Given the description of an element on the screen output the (x, y) to click on. 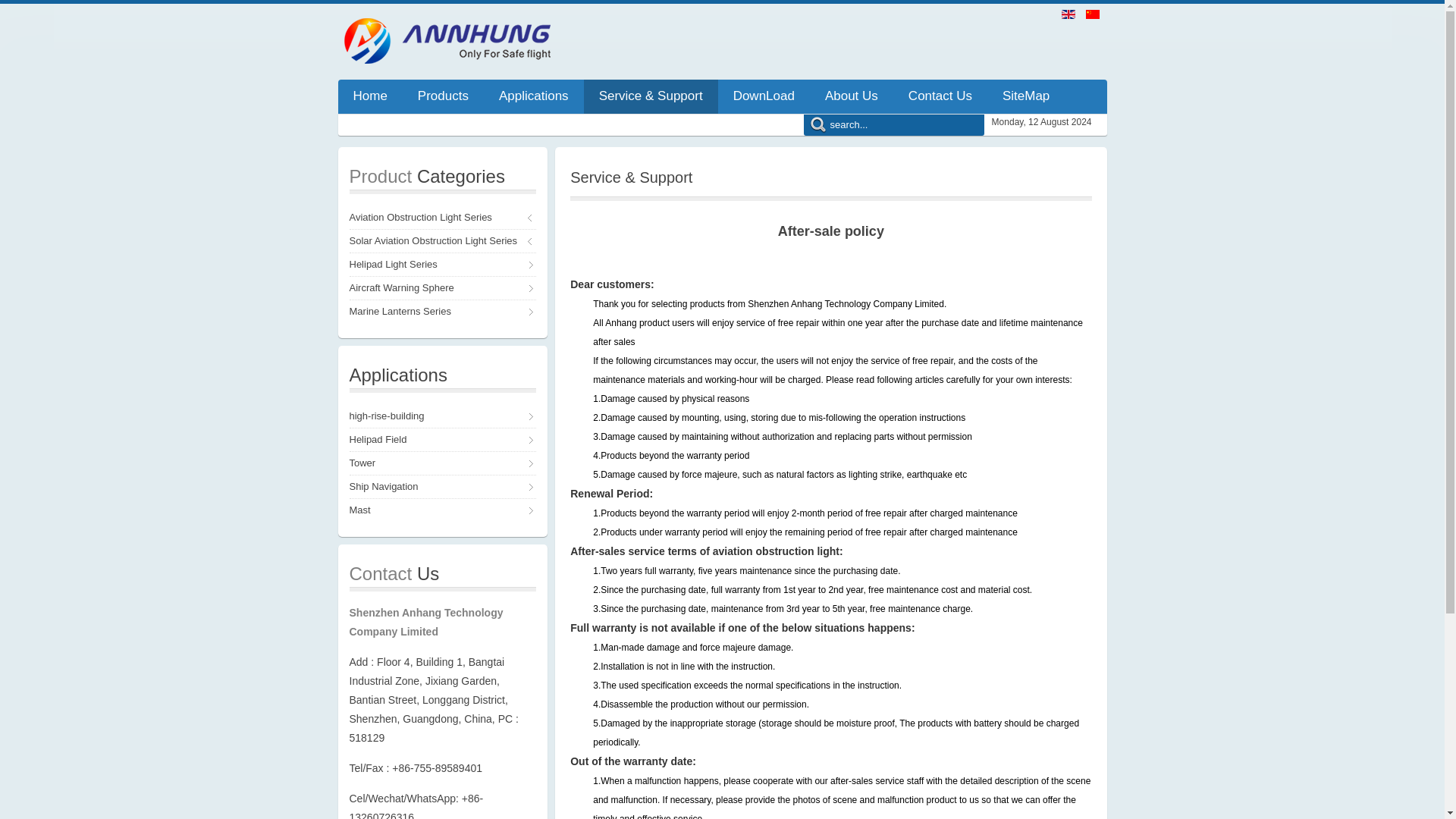
Products (443, 96)
SiteMap (1025, 96)
Tower (442, 463)
Chinese (1092, 13)
Aircraft Warning Sphere (442, 287)
Contact Us (940, 96)
Helipad Light Series (442, 264)
Helipad Field (442, 439)
Home (370, 96)
DownLoad (763, 96)
